Given the description of an element on the screen output the (x, y) to click on. 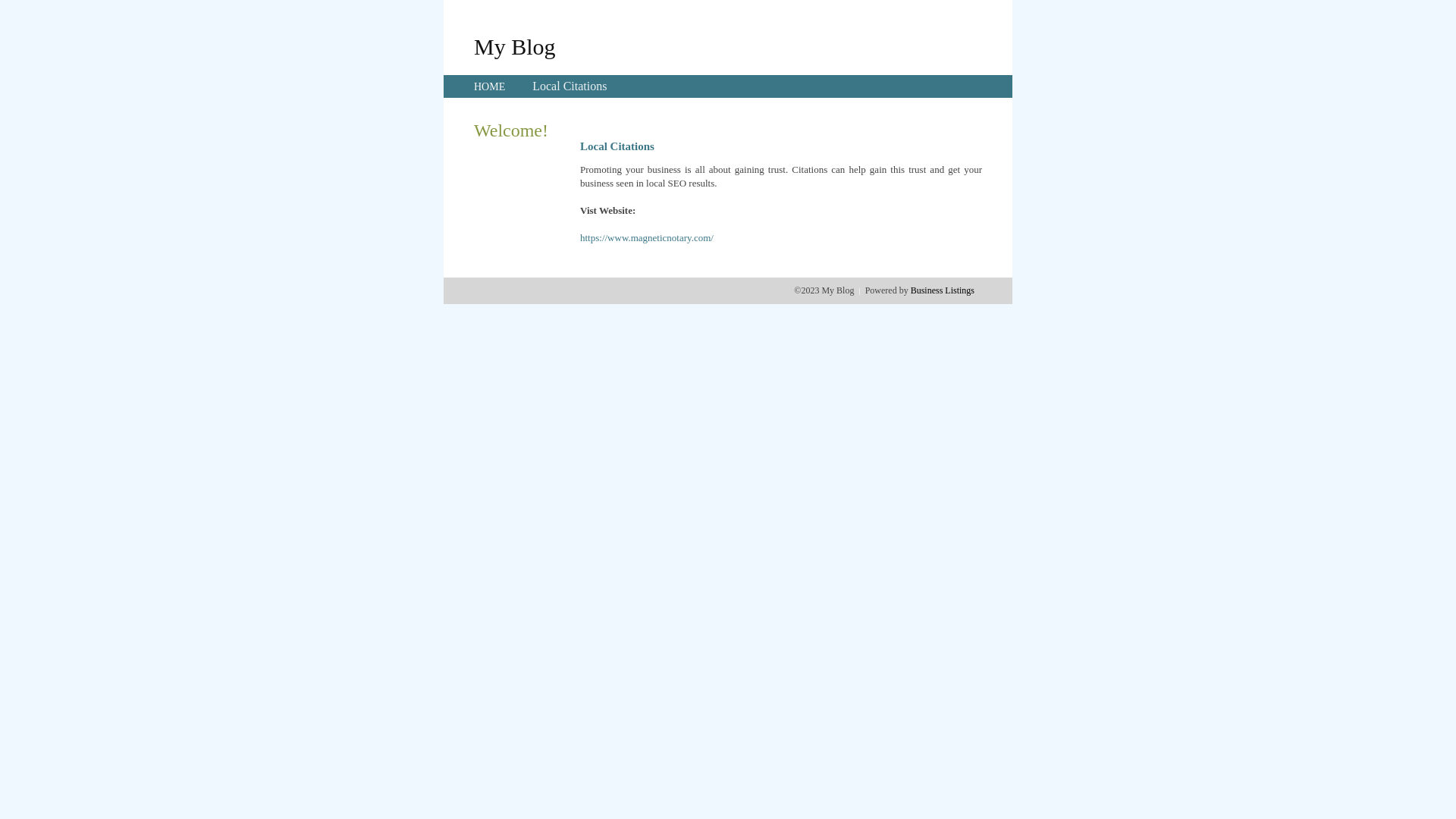
My Blog Element type: text (514, 46)
HOME Element type: text (489, 86)
Business Listings Element type: text (942, 290)
https://www.magneticnotary.com/ Element type: text (646, 237)
Local Citations Element type: text (569, 85)
